Given the description of an element on the screen output the (x, y) to click on. 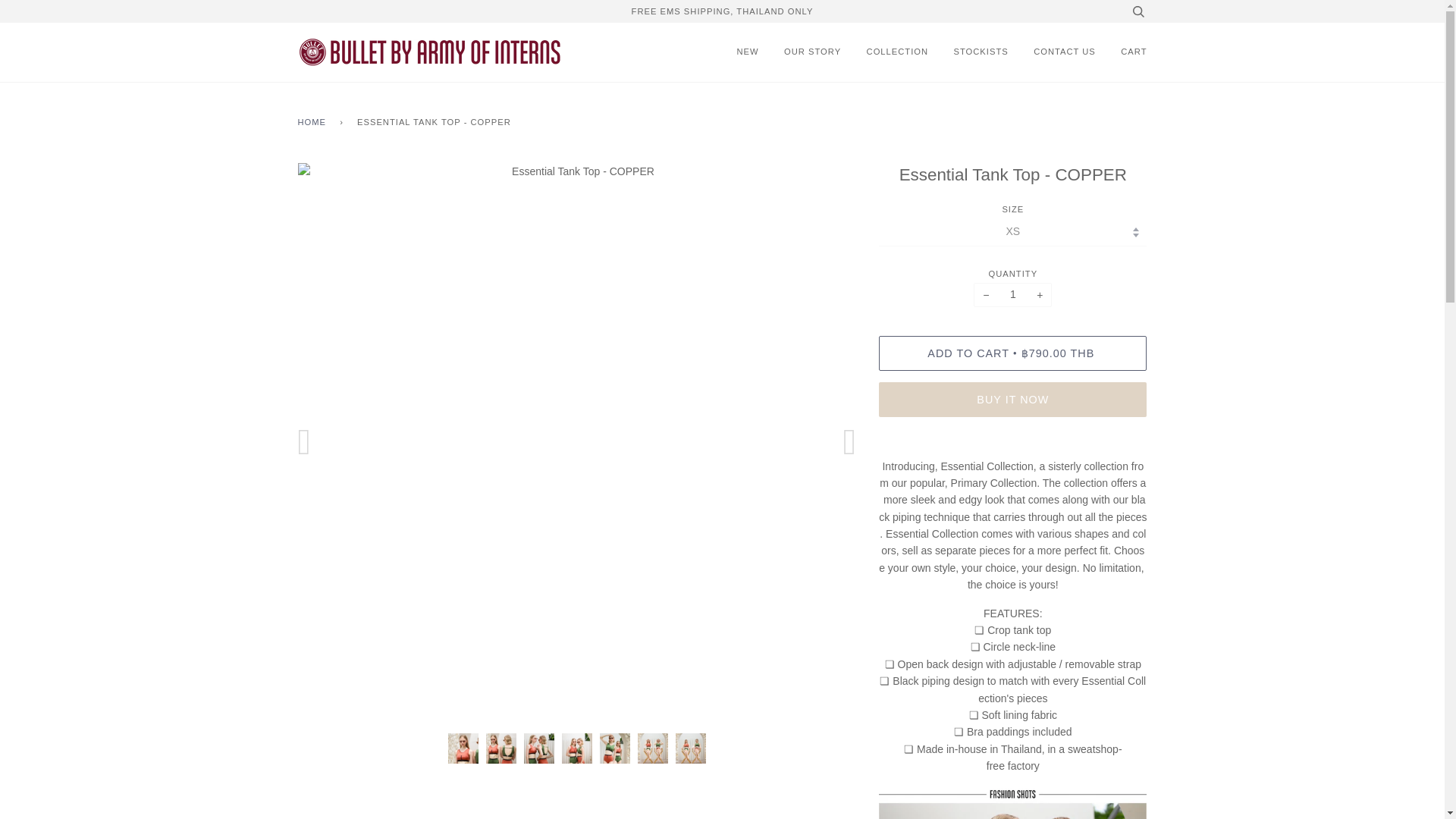
1 (1012, 294)
BUY IT NOW (1013, 399)
Back to the frontpage (314, 122)
CONTACT US (1064, 51)
COLLECTION (897, 51)
STOCKISTS (981, 51)
OUR STORY (812, 51)
HOME (314, 122)
